Given the description of an element on the screen output the (x, y) to click on. 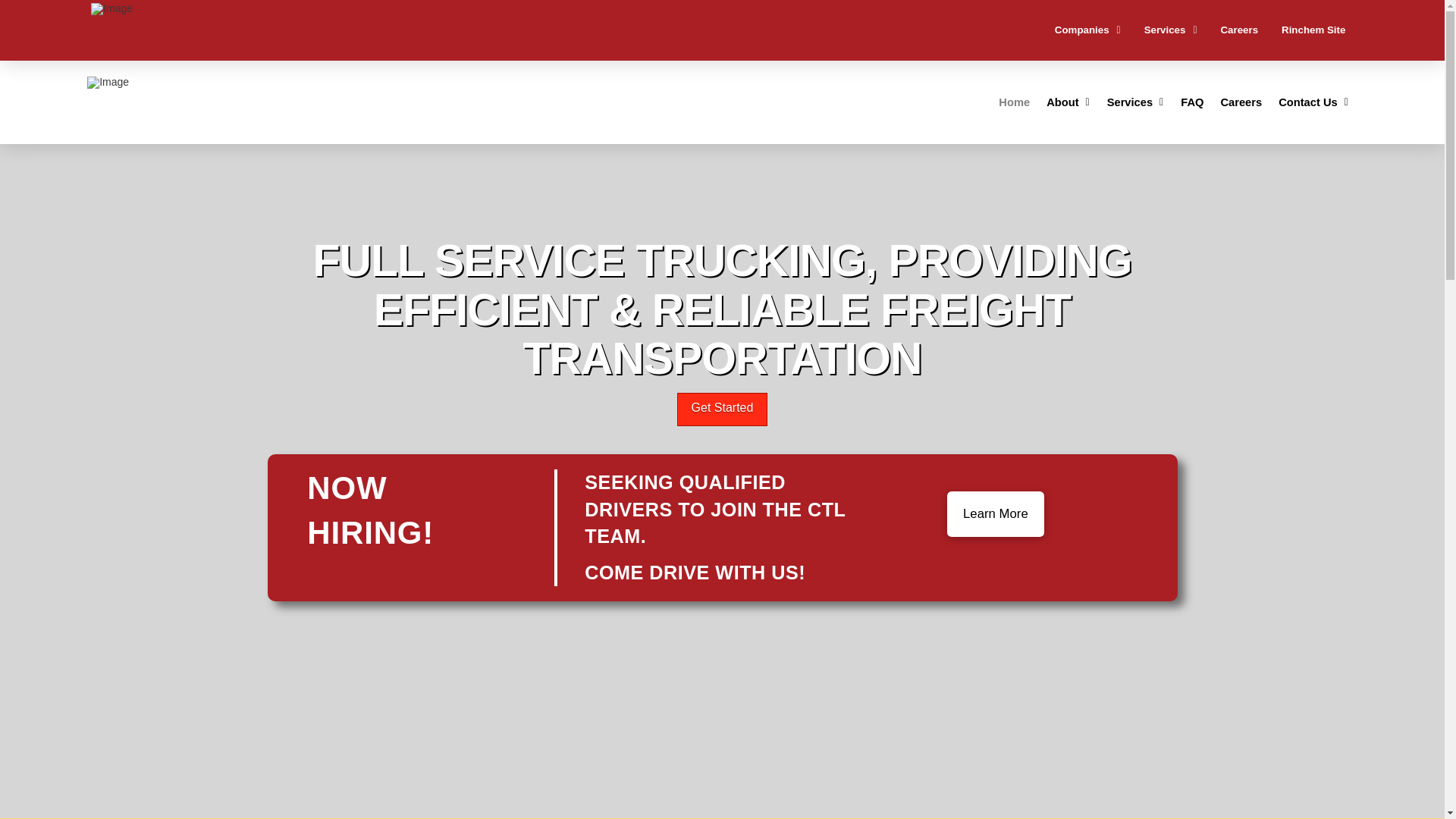
Learn More (995, 513)
Careers (1238, 31)
Companies (1087, 31)
Contact Us (1312, 102)
Rinchem Site (1312, 31)
Services (1136, 102)
Services (1170, 31)
Get Started (722, 409)
